Given the description of an element on the screen output the (x, y) to click on. 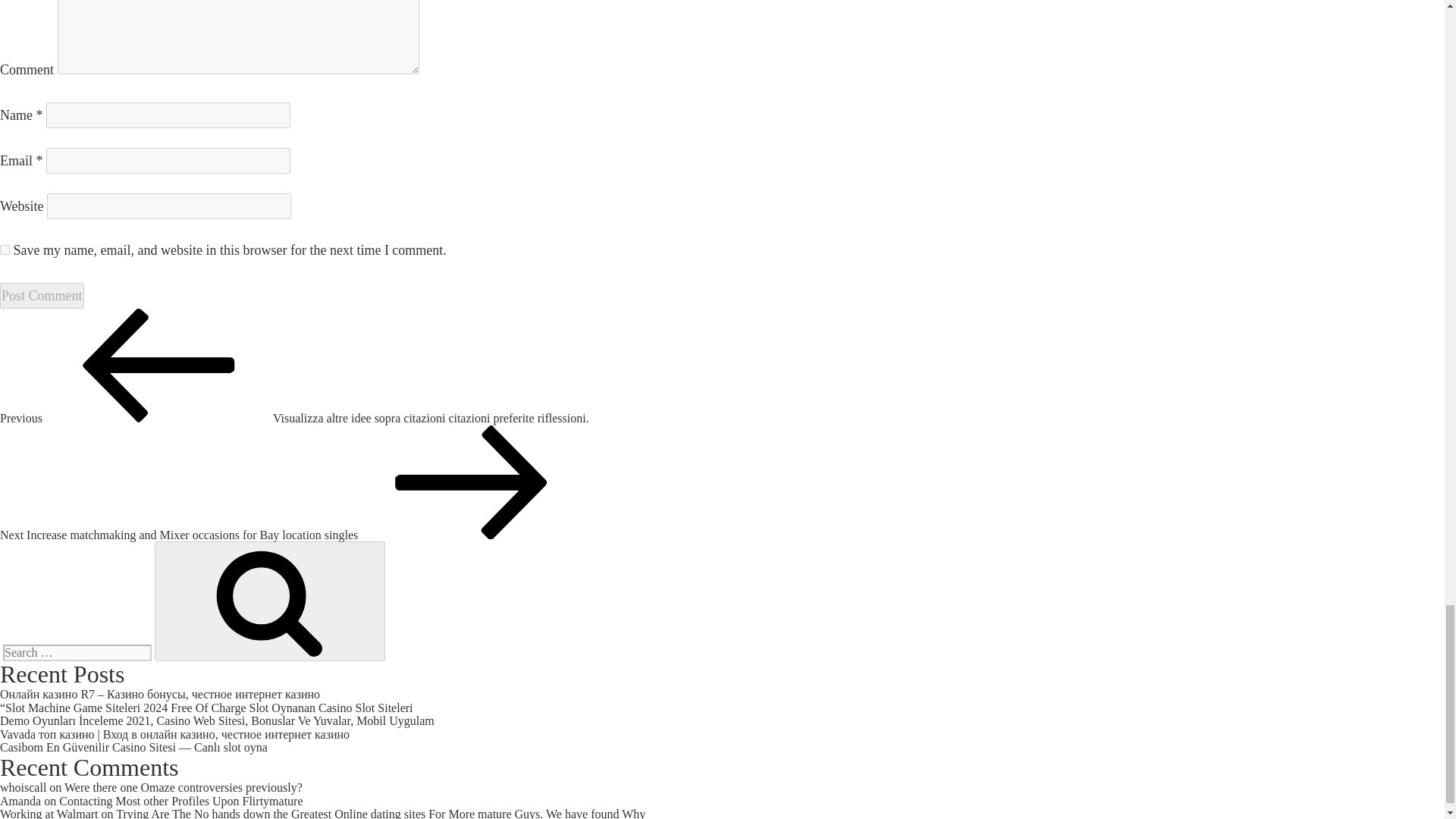
Contacting Most other Profiles Upon Flirtymature (180, 800)
Working at Walmart (49, 813)
Post Comment (42, 295)
Were there one Omaze controversies previously? (183, 787)
whoiscall (23, 787)
yes (5, 249)
Amanda (20, 800)
Search (269, 600)
Post Comment (42, 295)
